Given the description of an element on the screen output the (x, y) to click on. 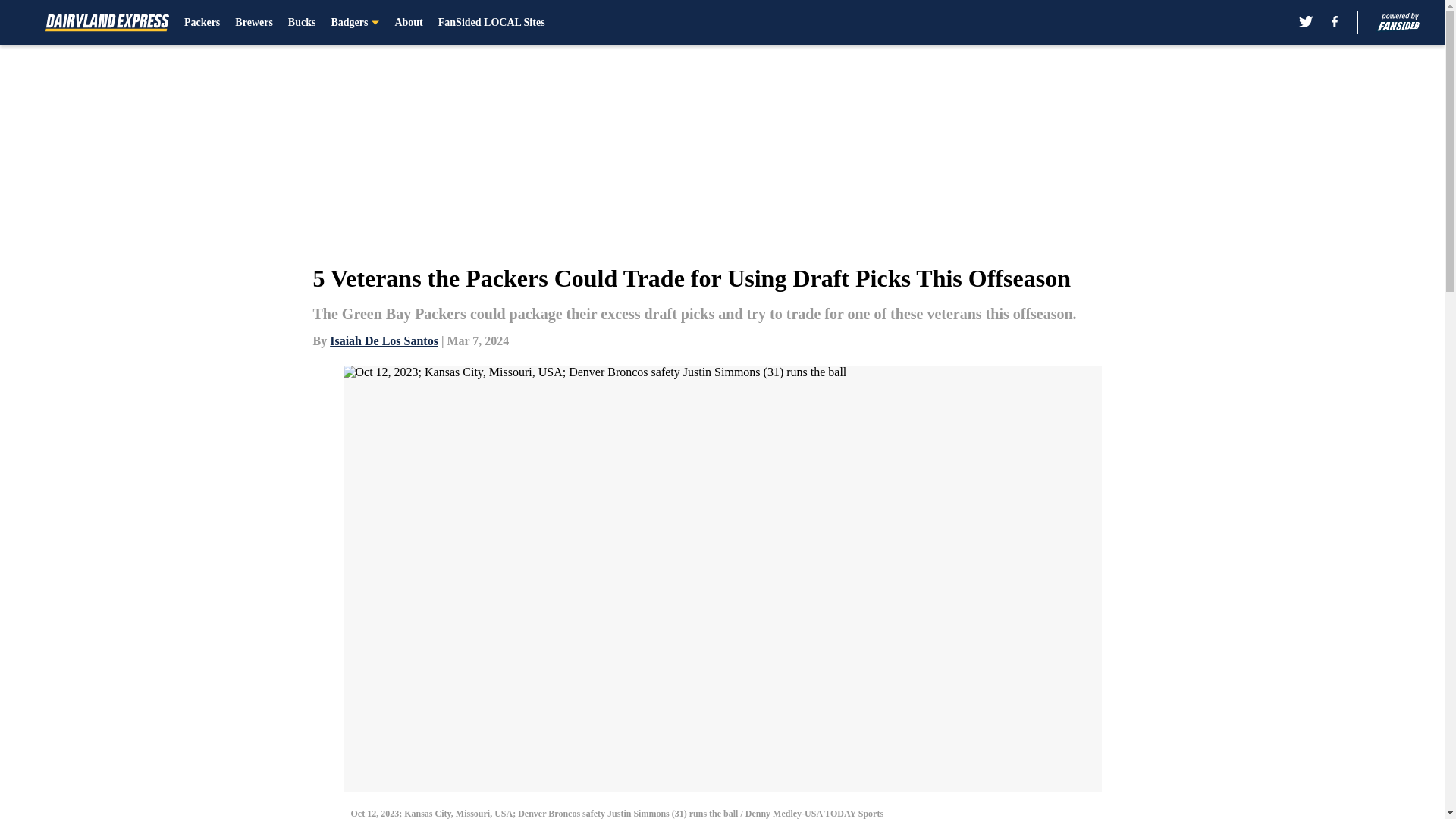
Bucks (301, 22)
FanSided LOCAL Sites (491, 22)
Brewers (253, 22)
Isaiah De Los Santos (384, 340)
Packers (201, 22)
About (408, 22)
